Given the description of an element on the screen output the (x, y) to click on. 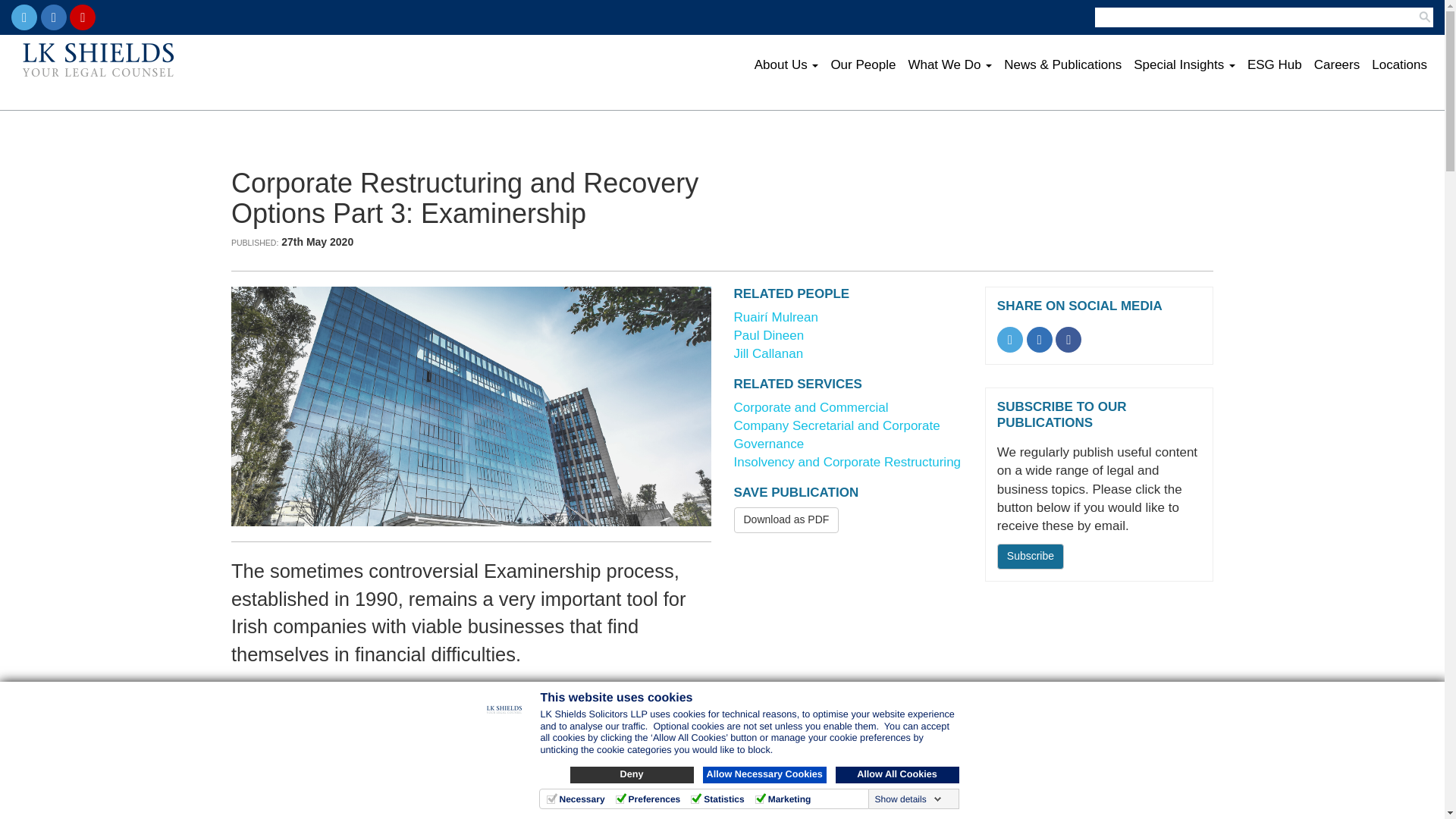
Deny (632, 774)
Allow All Cookies (897, 774)
Show details (908, 799)
Allow Necessary Cookies (763, 774)
